Given the description of an element on the screen output the (x, y) to click on. 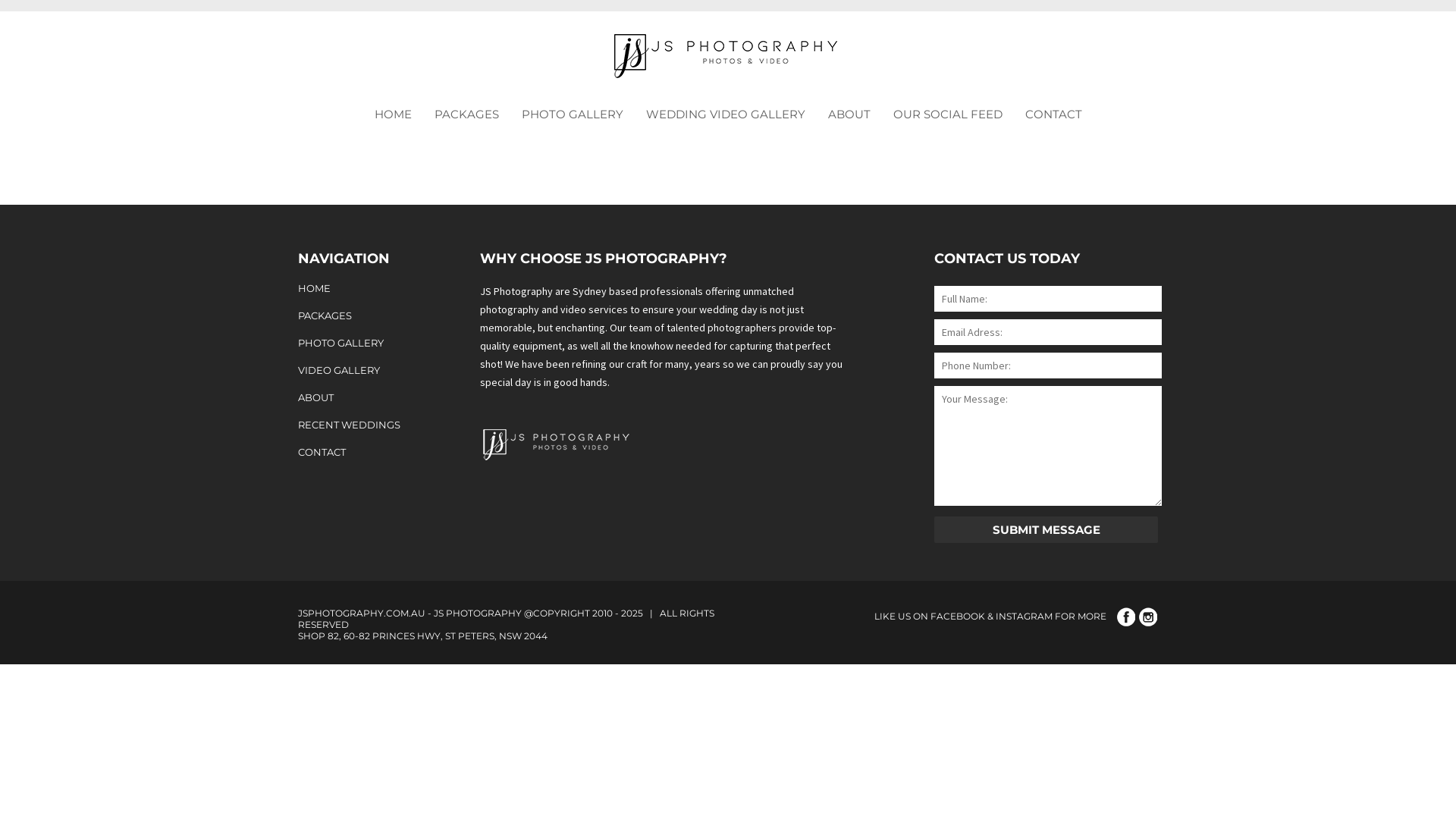
CONTACT Element type: text (1052, 113)
WEDDING VIDEO GALLERY Element type: text (724, 113)
ABOUT Element type: text (848, 113)
PHOTO GALLERY Element type: text (571, 113)
OUR SOCIAL FEED Element type: text (946, 113)
HOME Element type: text (358, 288)
PHOTO GALLERY Element type: text (358, 342)
CONTACT Element type: text (358, 451)
ABOUT Element type: text (358, 397)
RECENT WEDDINGS Element type: text (358, 424)
VIDEO GALLERY Element type: text (358, 370)
PACKAGES Element type: text (358, 315)
Submit Message Element type: text (1045, 529)
PACKAGES Element type: text (466, 113)
HOME Element type: text (392, 113)
